Given the description of an element on the screen output the (x, y) to click on. 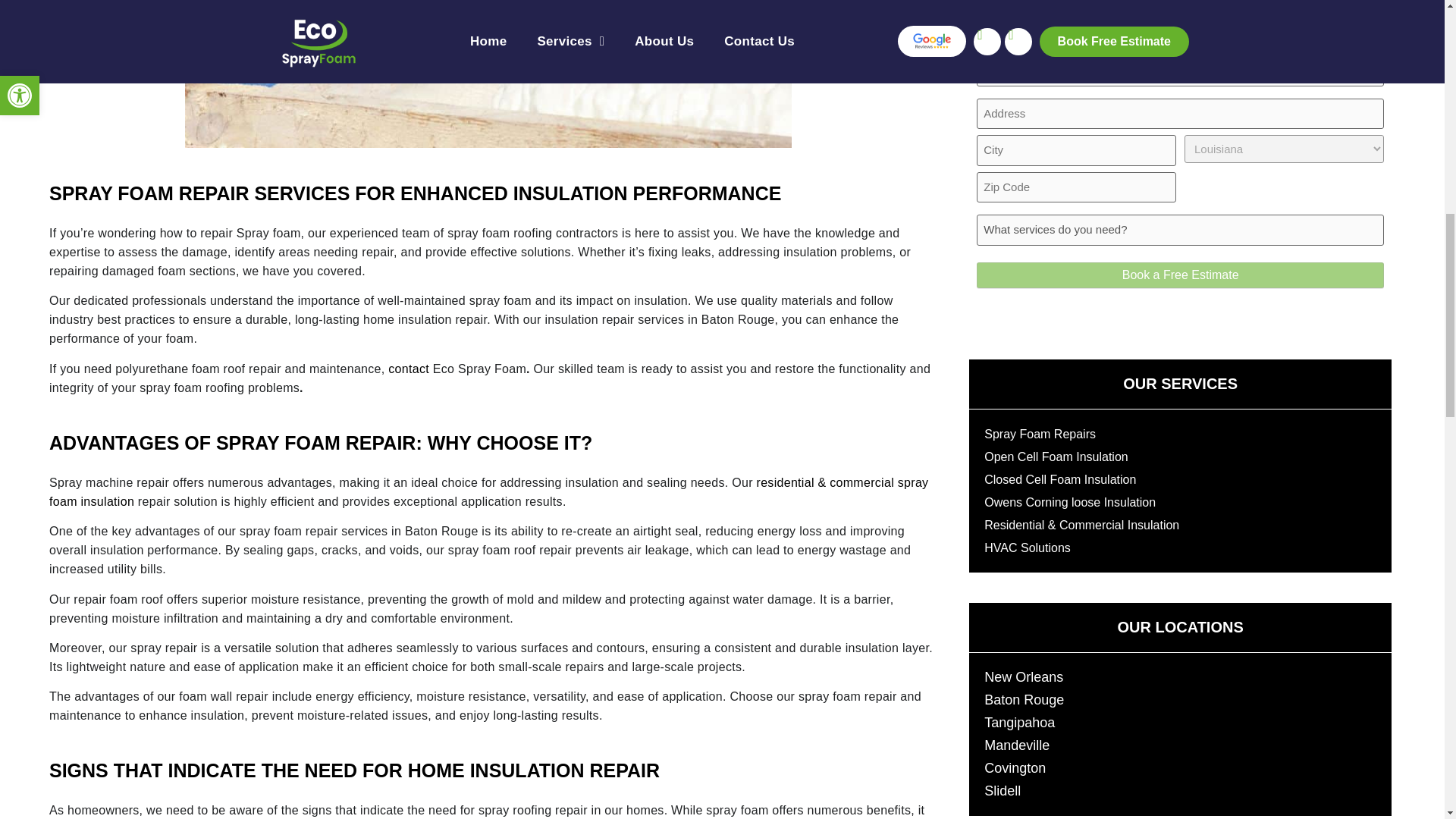
Book a Free Estimate (1180, 275)
What services do you need? (1180, 229)
Email (1180, 70)
Phone (1180, 28)
